Given the description of an element on the screen output the (x, y) to click on. 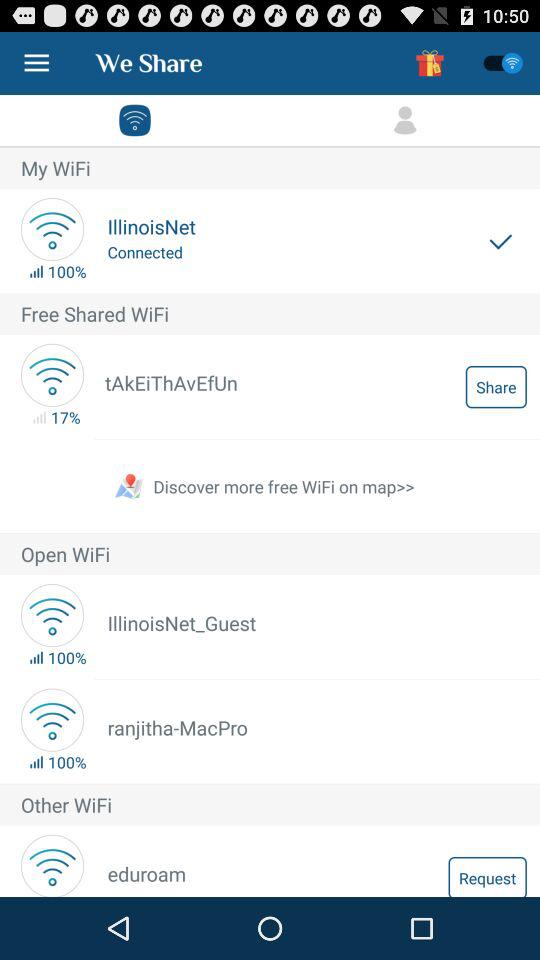
launch icon to the right of the eduroam (487, 876)
